Given the description of an element on the screen output the (x, y) to click on. 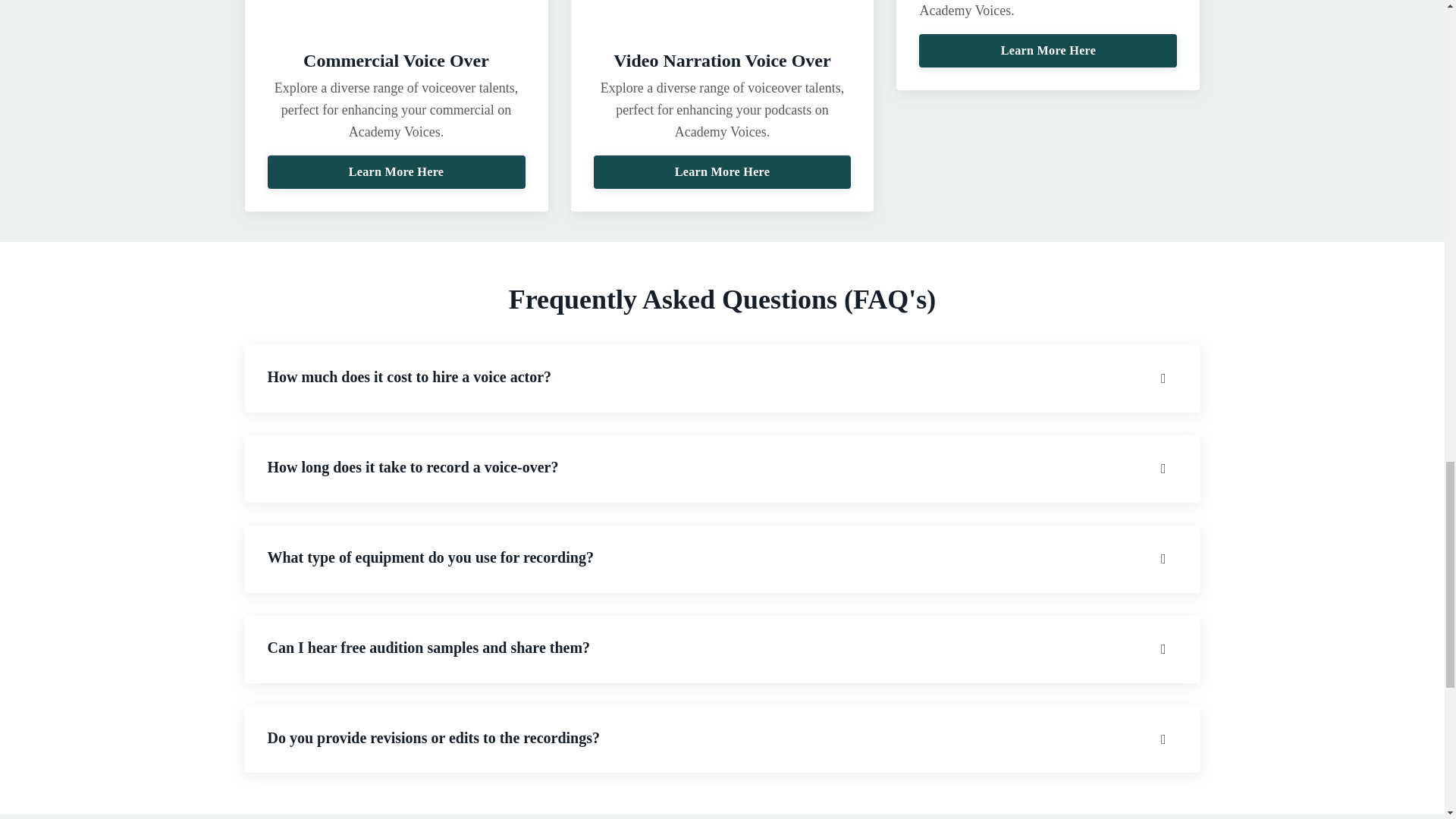
Learn More Here (1047, 50)
Learn More Here (721, 172)
Learn More Here (396, 172)
